Given the description of an element on the screen output the (x, y) to click on. 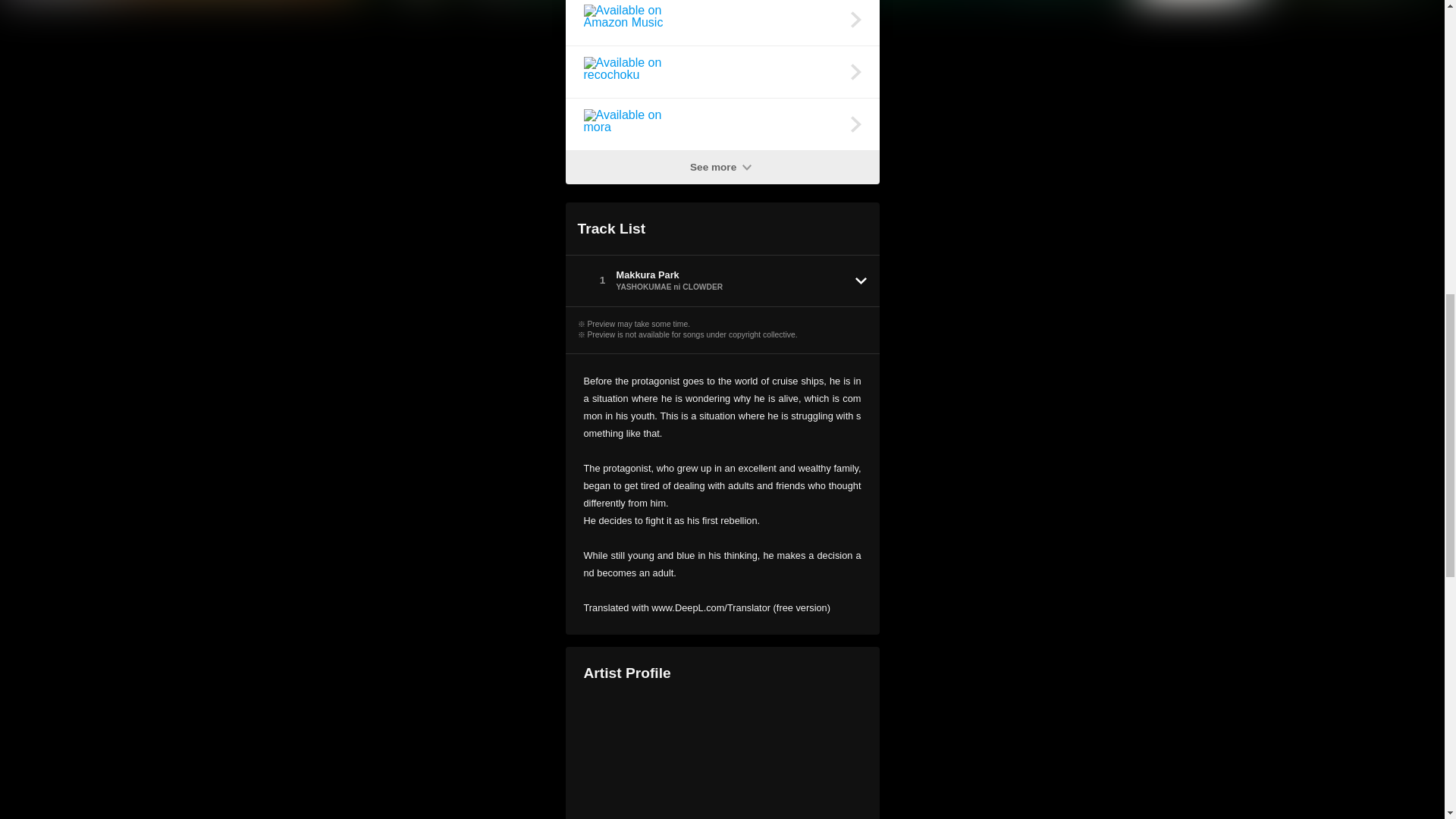
Available on Amazon Music (722, 22)
Available on recochoku (722, 71)
Available on mora (722, 123)
